Given the description of an element on the screen output the (x, y) to click on. 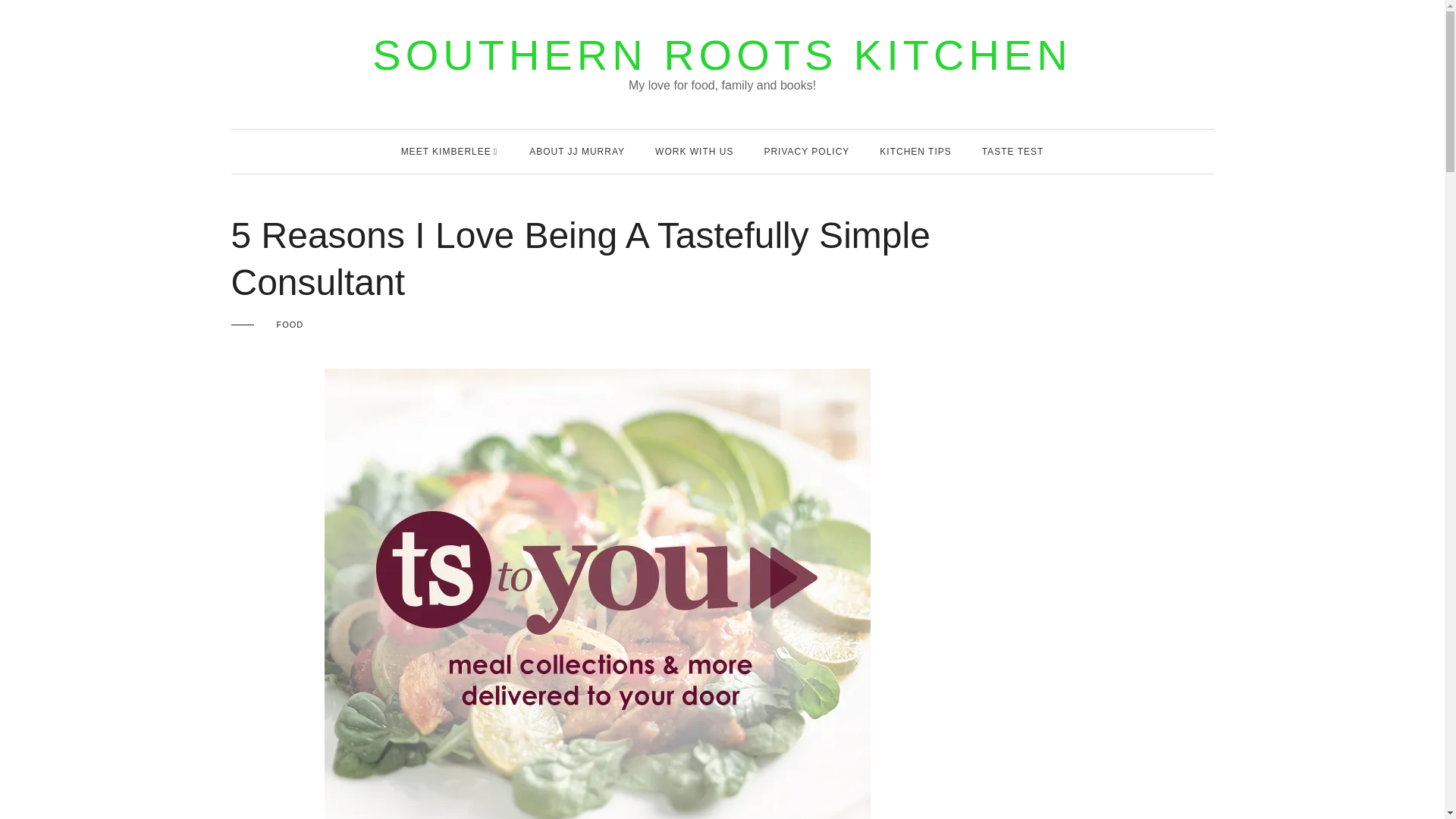
WORK WITH US (694, 151)
KITCHEN TIPS (914, 151)
TASTE TEST (1012, 151)
MEET KIMBERLEE (446, 151)
FOOD (289, 324)
SOUTHERN ROOTS KITCHEN (721, 55)
ABOUT JJ MURRAY (576, 151)
PRIVACY POLICY (805, 151)
